Given the description of an element on the screen output the (x, y) to click on. 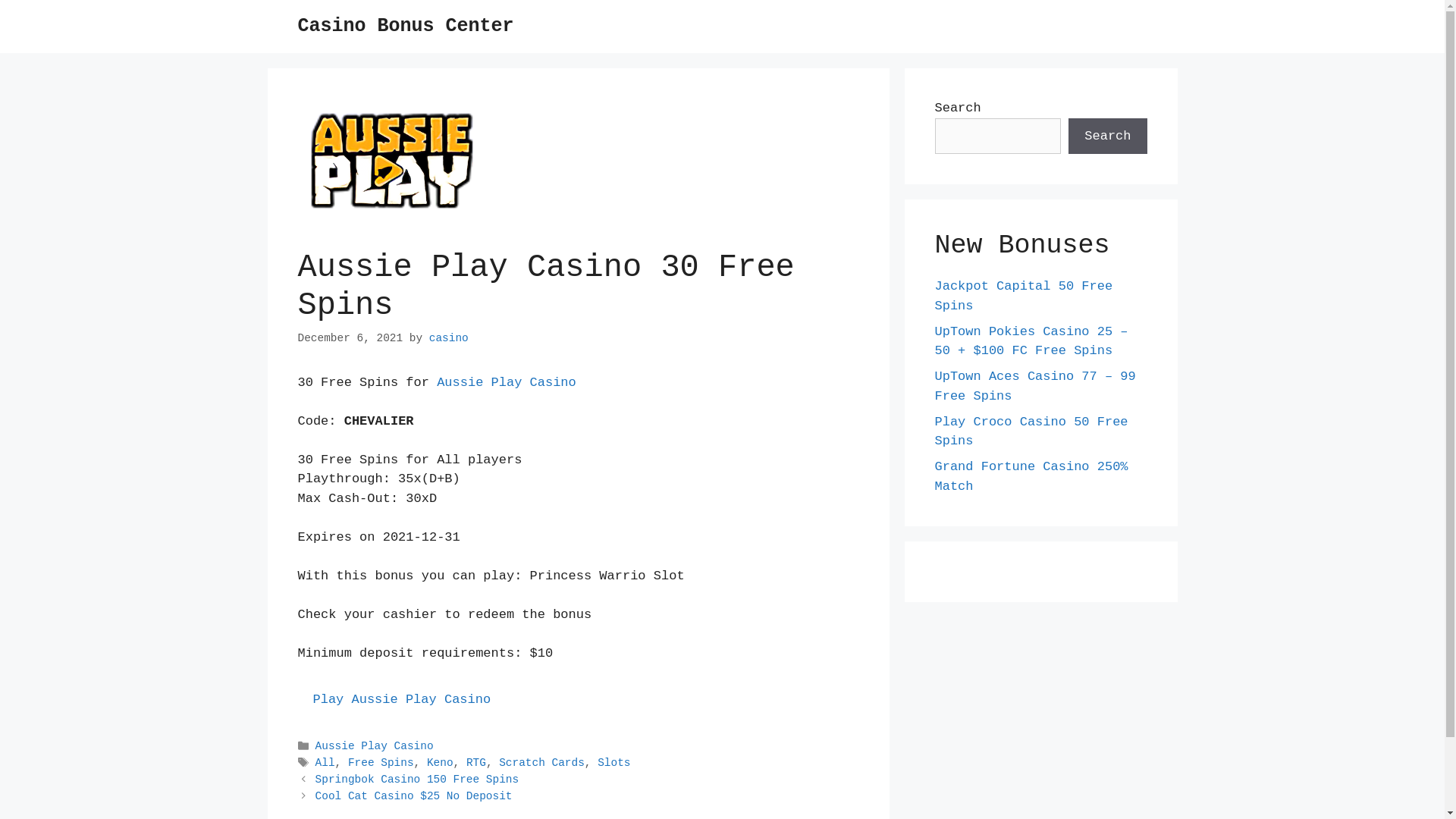
Cool Cat Casino $25 No Deposit Element type: text (413, 796)
Scratch Cards Element type: text (541, 763)
Springbok Casino 150 Free Spins Element type: text (417, 780)
Jackpot Capital 50 Free Spins Element type: text (1023, 296)
RTG Element type: text (476, 763)
Play Aussie Play Casino Element type: text (401, 699)
Keno Element type: text (439, 763)
Search Element type: text (1107, 136)
Free Spins Element type: text (381, 763)
Grand Fortune Casino 250% Match Element type: text (1030, 476)
All Element type: text (325, 763)
Casino Bonus Center Element type: text (405, 26)
casino Element type: text (448, 338)
Aussie Play Casino Element type: text (374, 746)
Play Croco Casino 50 Free Spins Element type: text (1030, 431)
Slots Element type: text (613, 763)
Aussie Play Casino Element type: text (506, 382)
